Given the description of an element on the screen output the (x, y) to click on. 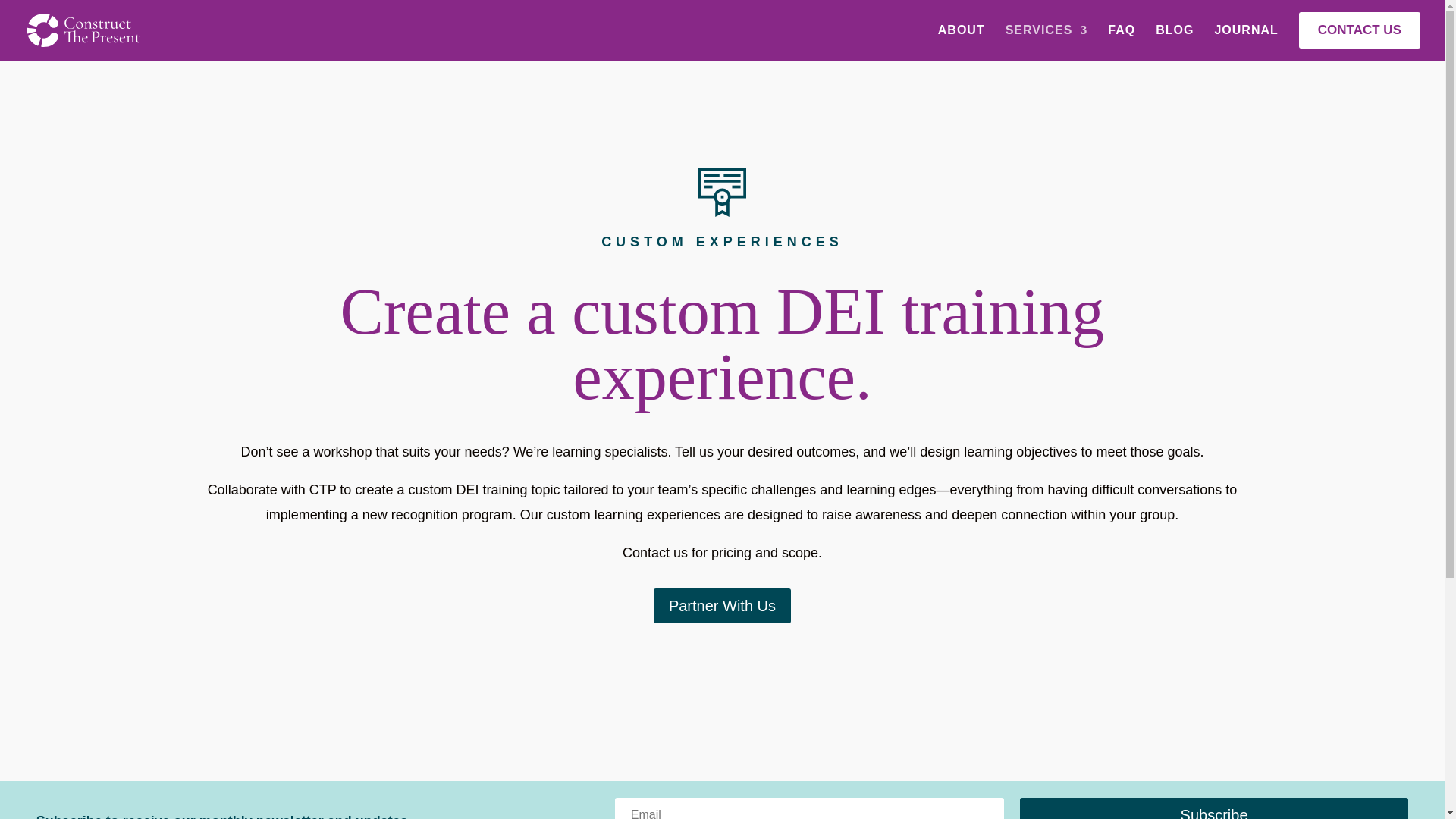
SERVICES (1046, 42)
Subscribe (1214, 808)
Partner With Us (721, 605)
JOURNAL (1246, 42)
contract graphic (721, 192)
BLOG (1174, 42)
CONTACT US (1358, 36)
ABOUT (961, 42)
